Given the description of an element on the screen output the (x, y) to click on. 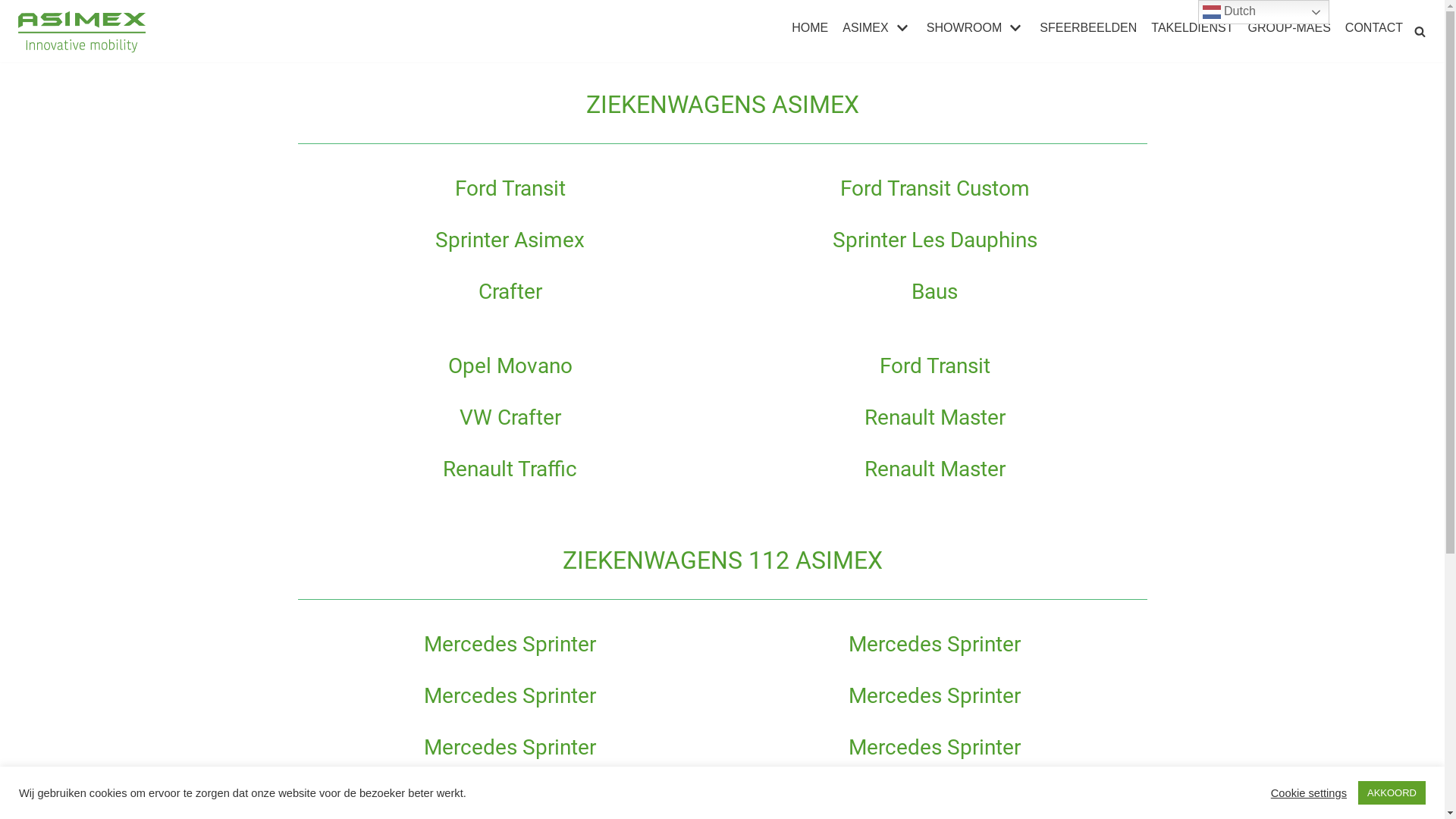
GROUP-MAES Element type: text (1288, 27)
SFEERBEELDEN Element type: text (1087, 27)
CONTACT Element type: text (1373, 27)
AKKOORD Element type: text (1391, 792)
HOME Element type: text (809, 27)
Cookie settings Element type: text (1308, 792)
ASIMEX - Innovative mobility Element type: hover (83, 31)
SHOWROOM Element type: text (976, 27)
ASIMEX Element type: text (876, 27)
TAKELDIENST Element type: text (1192, 27)
Spring naar de inhoud Element type: text (15, 7)
Dutch Element type: text (1263, 12)
